Given the description of an element on the screen output the (x, y) to click on. 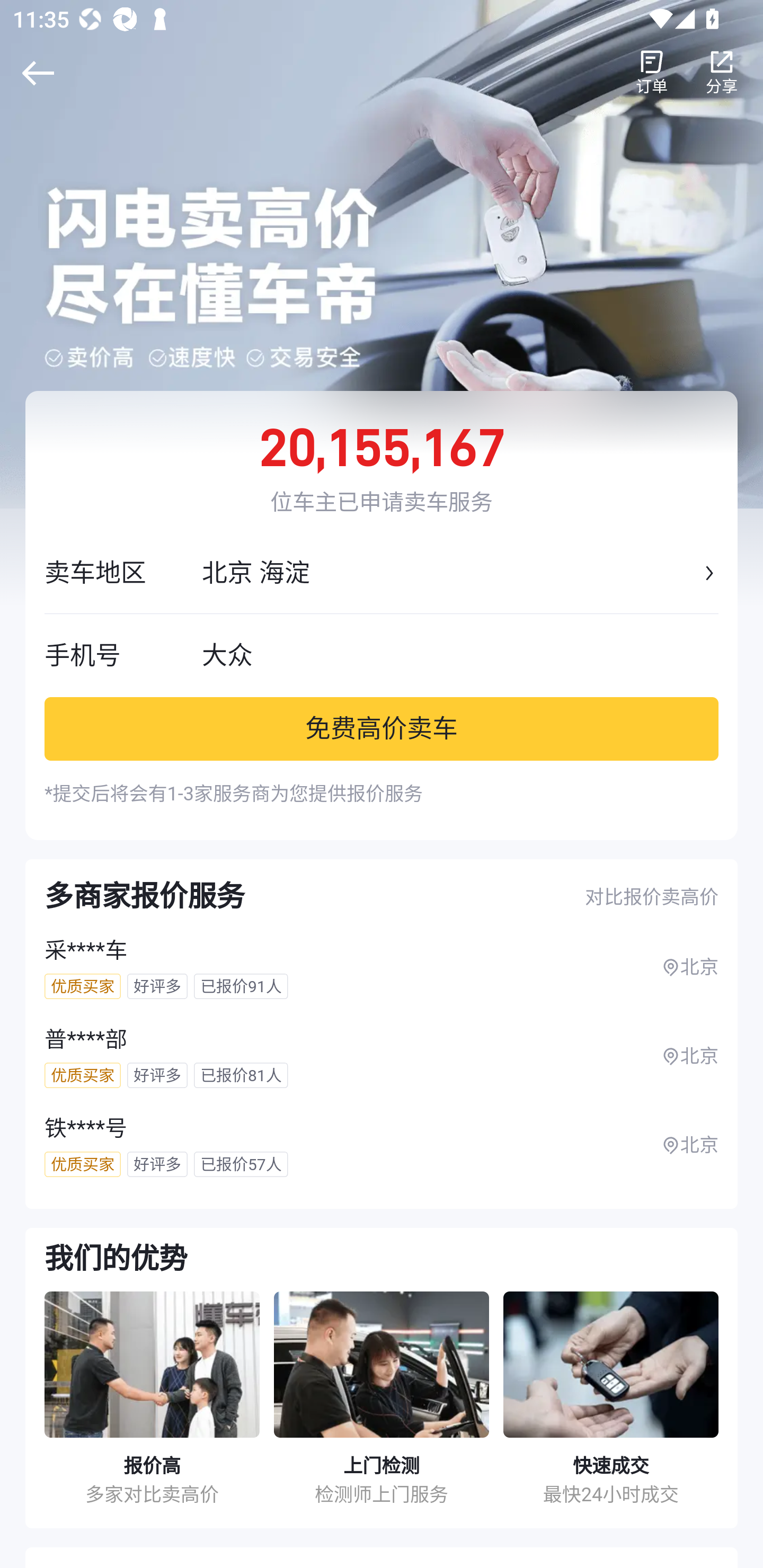
订单 (651, 72)
分享 (721, 72)
北京 海淀 (450, 572)
大众 (460, 655)
免费高价卖车 (381, 728)
